Given the description of an element on the screen output the (x, y) to click on. 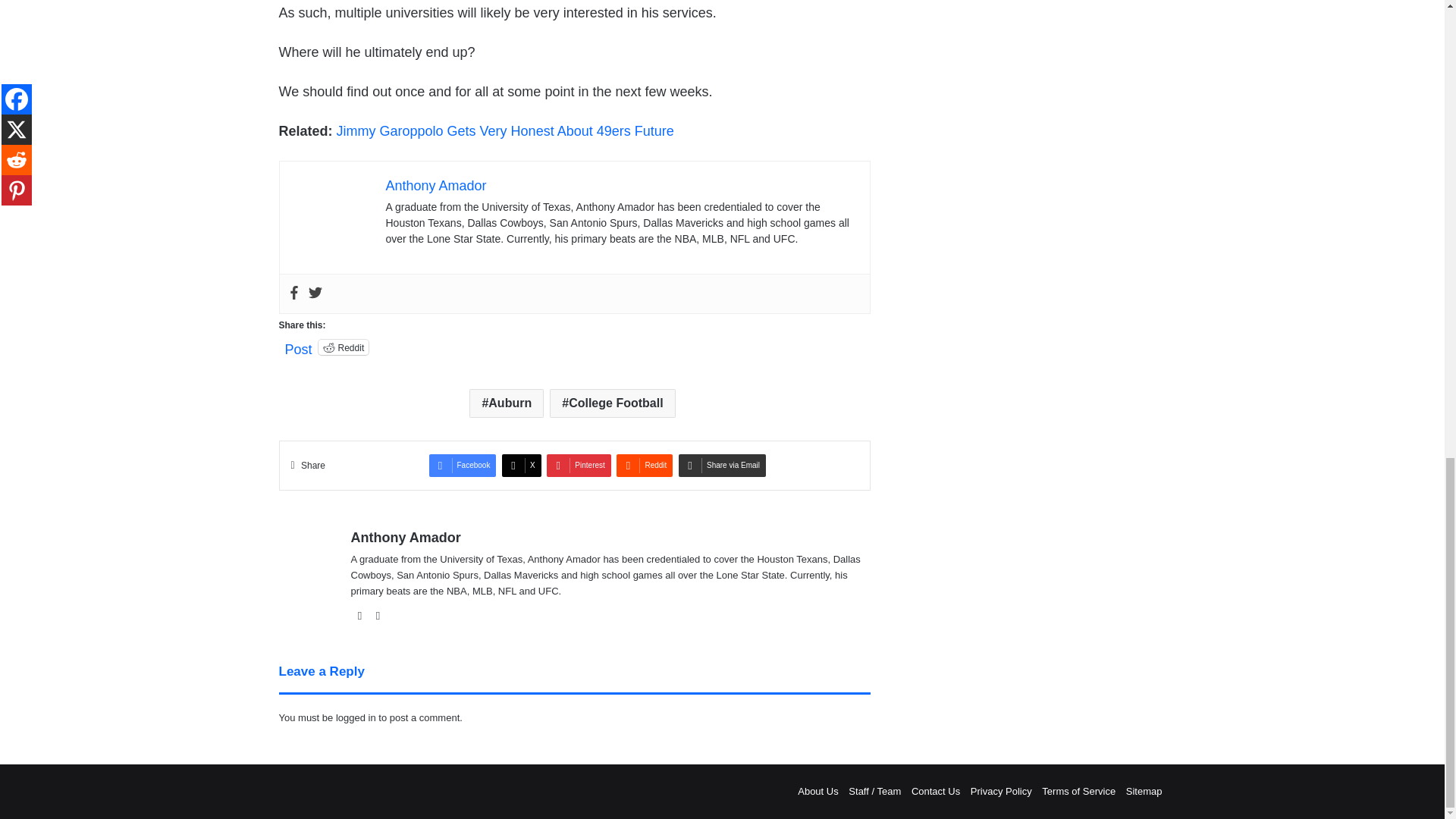
Jimmy Garoppolo Gets Very Honest About 49ers Future (505, 130)
Auburn (505, 403)
Post (299, 345)
Reddit (343, 346)
Jimmy Garoppolo Gets Very Honest About 49ers Future (505, 130)
Anthony Amador (435, 185)
